Given the description of an element on the screen output the (x, y) to click on. 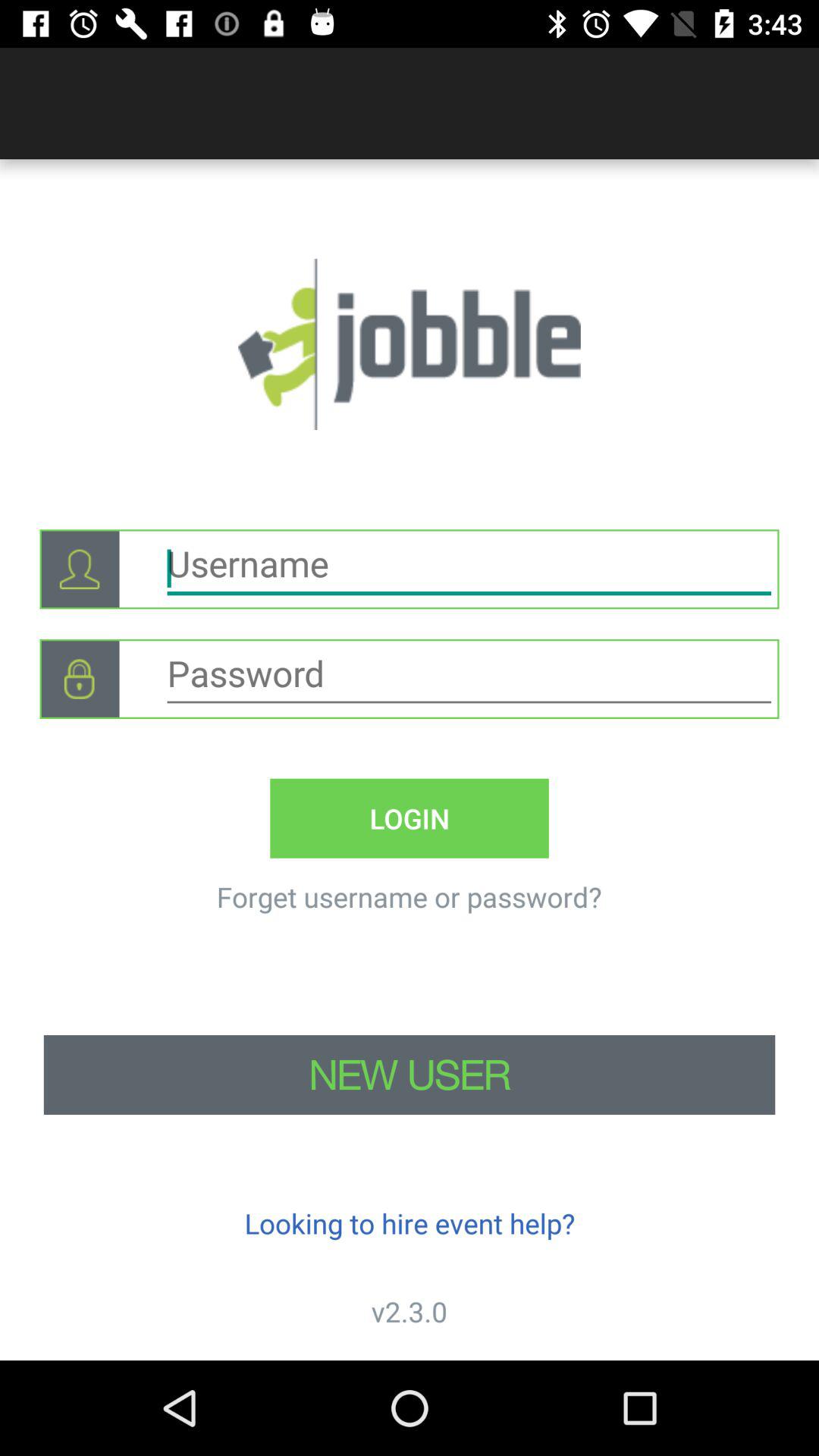
turn off new user icon (409, 1074)
